Given the description of an element on the screen output the (x, y) to click on. 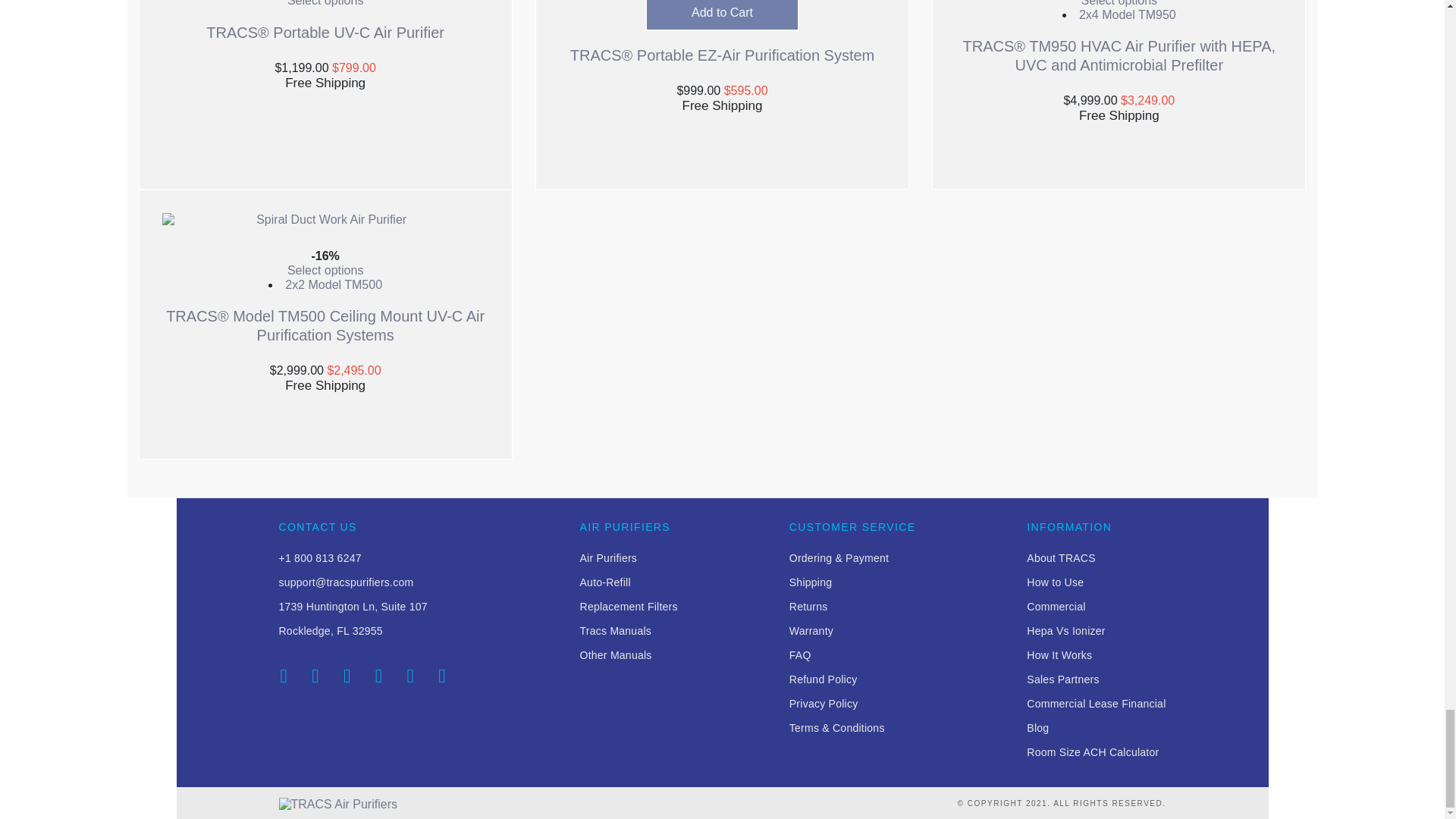
2x2 Model TM500 (333, 284)
2x4 Model TM950 (1127, 14)
Logo (338, 803)
